Given the description of an element on the screen output the (x, y) to click on. 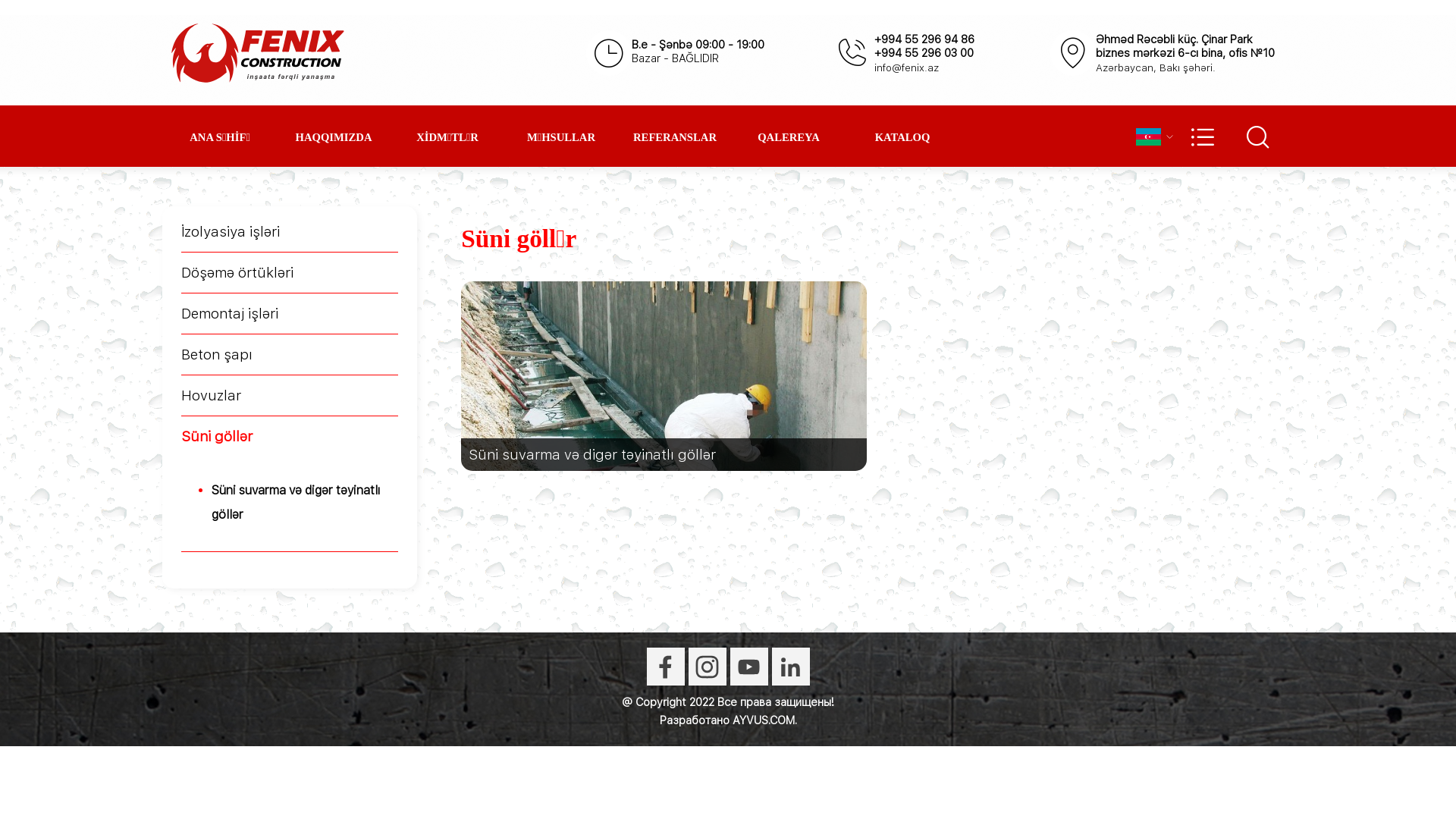
KATALOQ Element type: text (901, 137)
HAQQIMIZDA Element type: text (333, 137)
Hovuzlar Element type: text (211, 395)
QALEREYA Element type: text (788, 137)
